Given the description of an element on the screen output the (x, y) to click on. 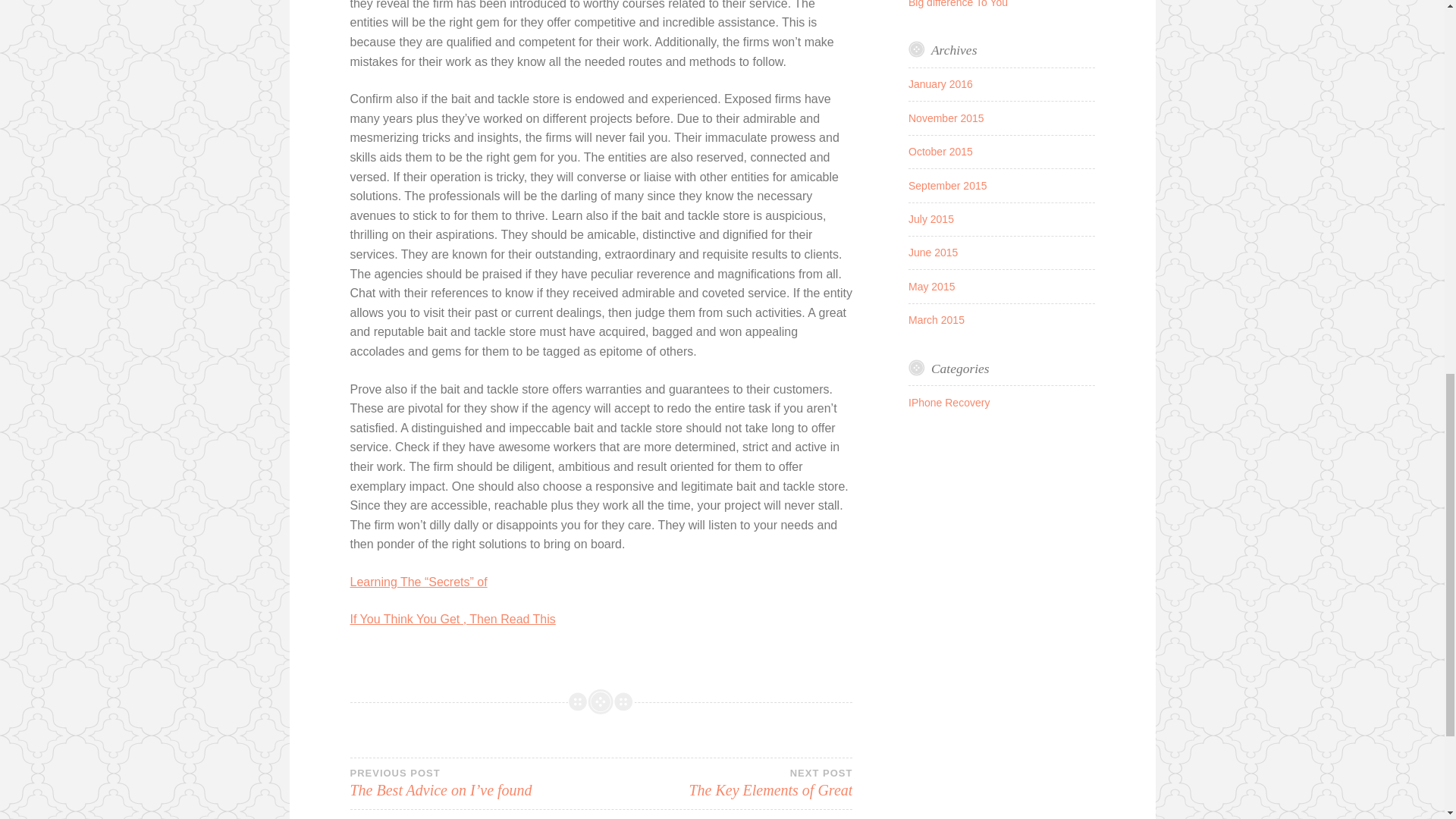
If You Think You Get , Then Read This (726, 782)
IPhone Recovery (453, 618)
November 2015 (949, 402)
June 2015 (946, 118)
May 2015 (933, 252)
July 2015 (931, 286)
September 2015 (930, 218)
January 2016 (947, 185)
October 2015 (940, 83)
March 2015 (940, 151)
The Iphone And How It Can Make A Big difference To You (935, 319)
